Given the description of an element on the screen output the (x, y) to click on. 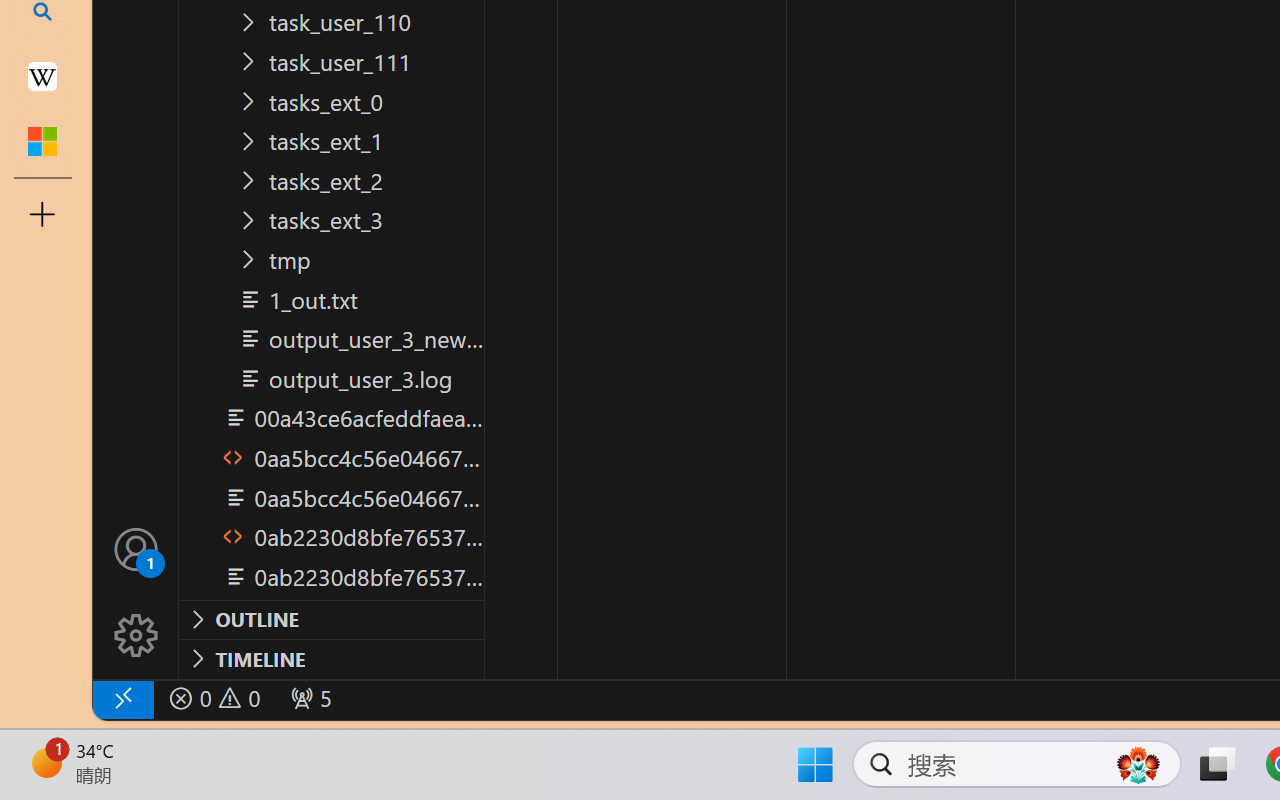
Forwarded Ports: 36301, 47065, 38781, 45817, 50331 (308, 698)
Earth - Wikipedia (42, 75)
Timeline Section (331, 658)
Manage (135, 635)
Outline Section (331, 619)
Accounts - Sign in requested (135, 548)
remote (122, 698)
Manage (135, 591)
No Problems (212, 698)
